Given the description of an element on the screen output the (x, y) to click on. 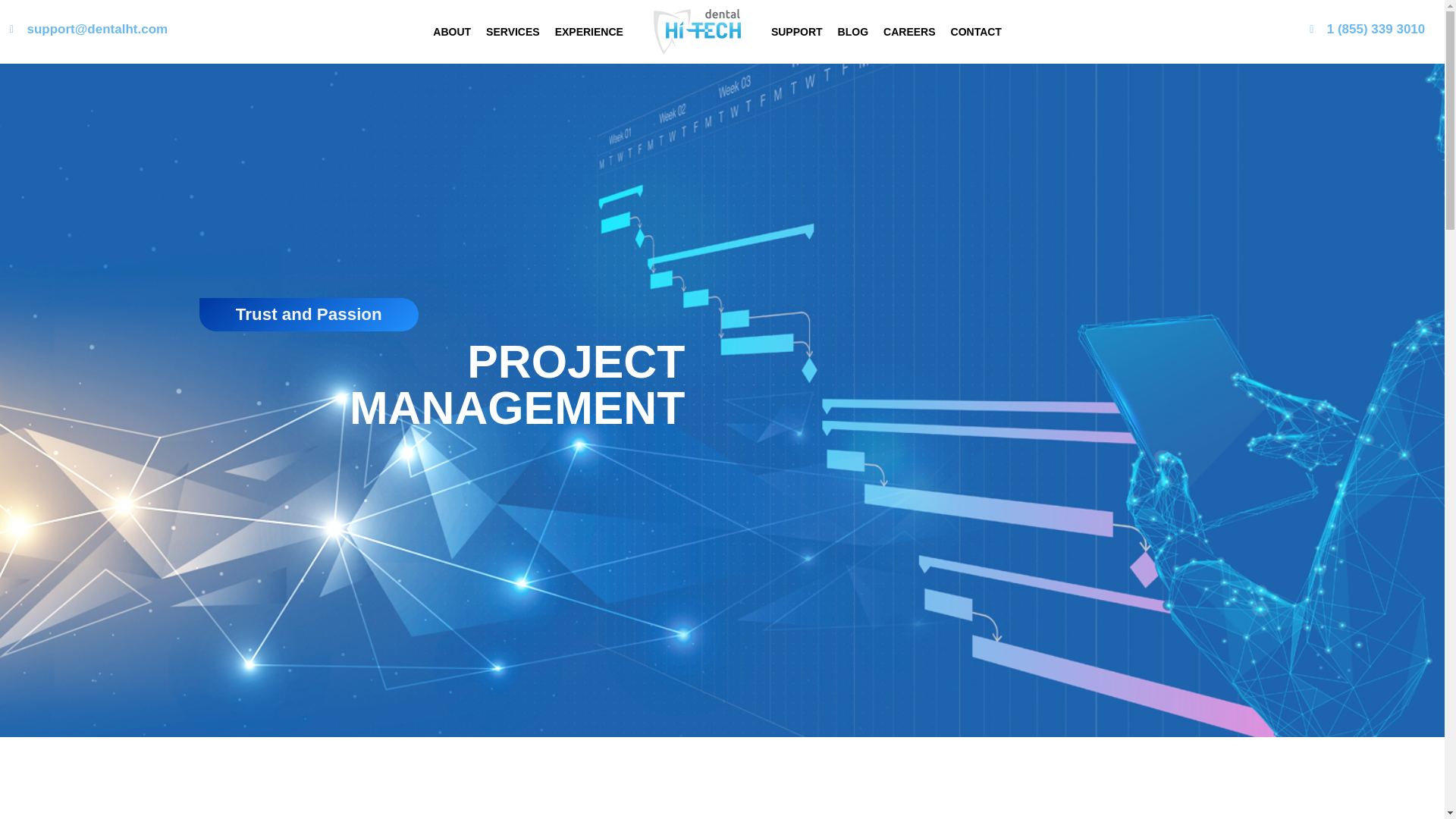
EXPERIENCE (588, 31)
SERVICES (513, 31)
logo-115-60-grey (697, 31)
ABOUT (452, 31)
